Given the description of an element on the screen output the (x, y) to click on. 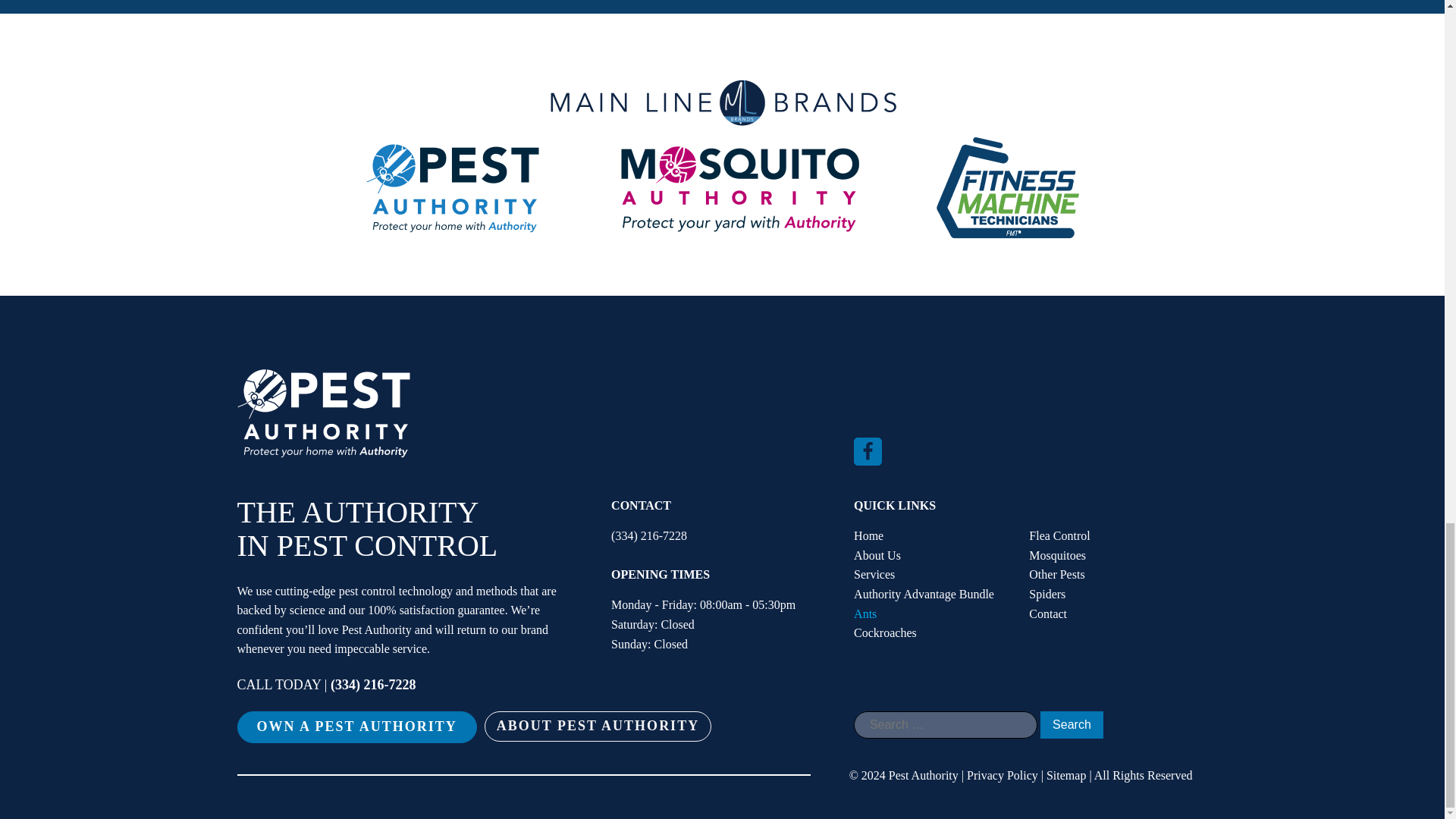
Search (1072, 724)
Search (1072, 724)
